Given the description of an element on the screen output the (x, y) to click on. 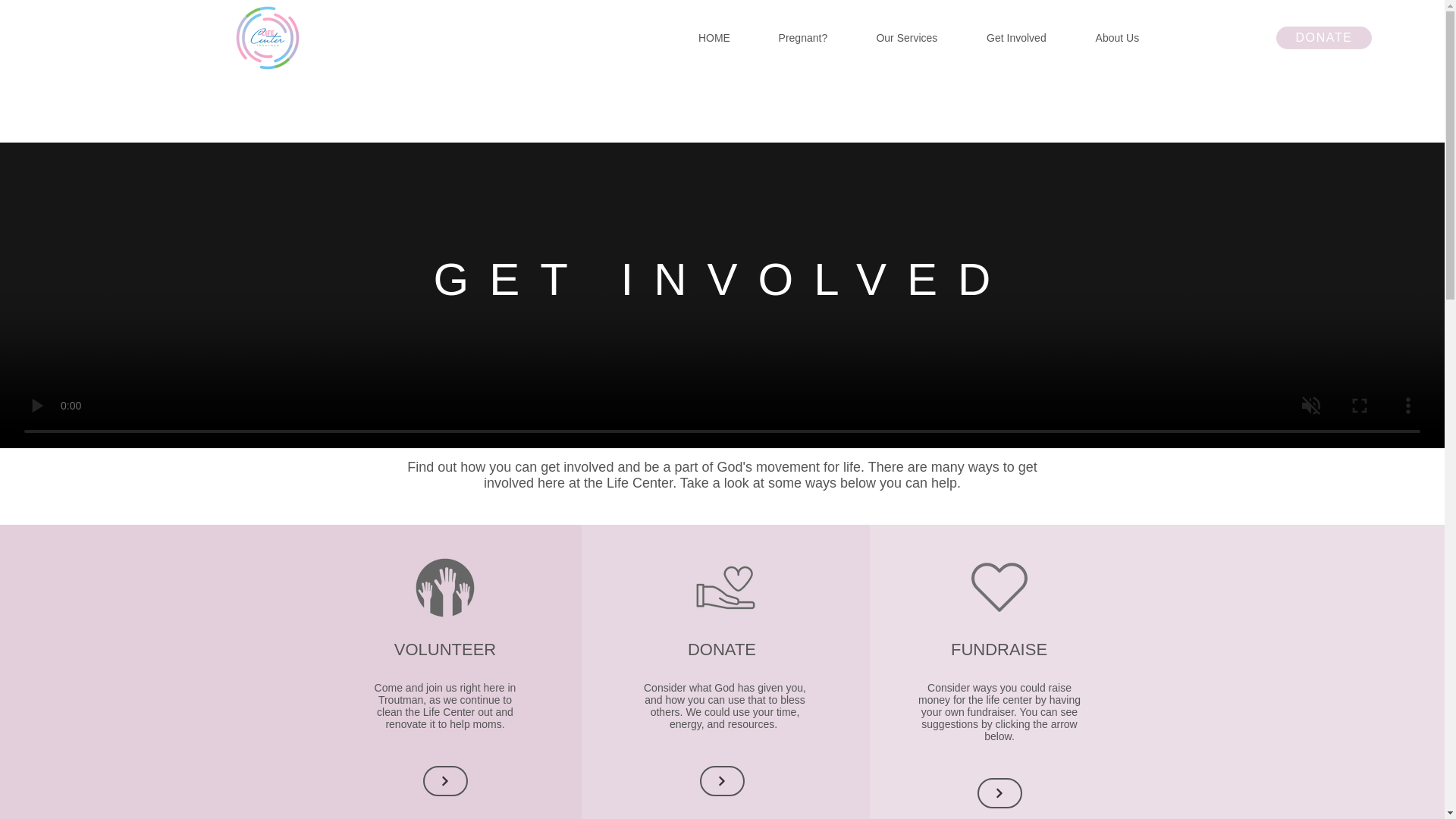
Our Services (906, 37)
DONATE (1323, 37)
HOME (714, 37)
